Given the description of an element on the screen output the (x, y) to click on. 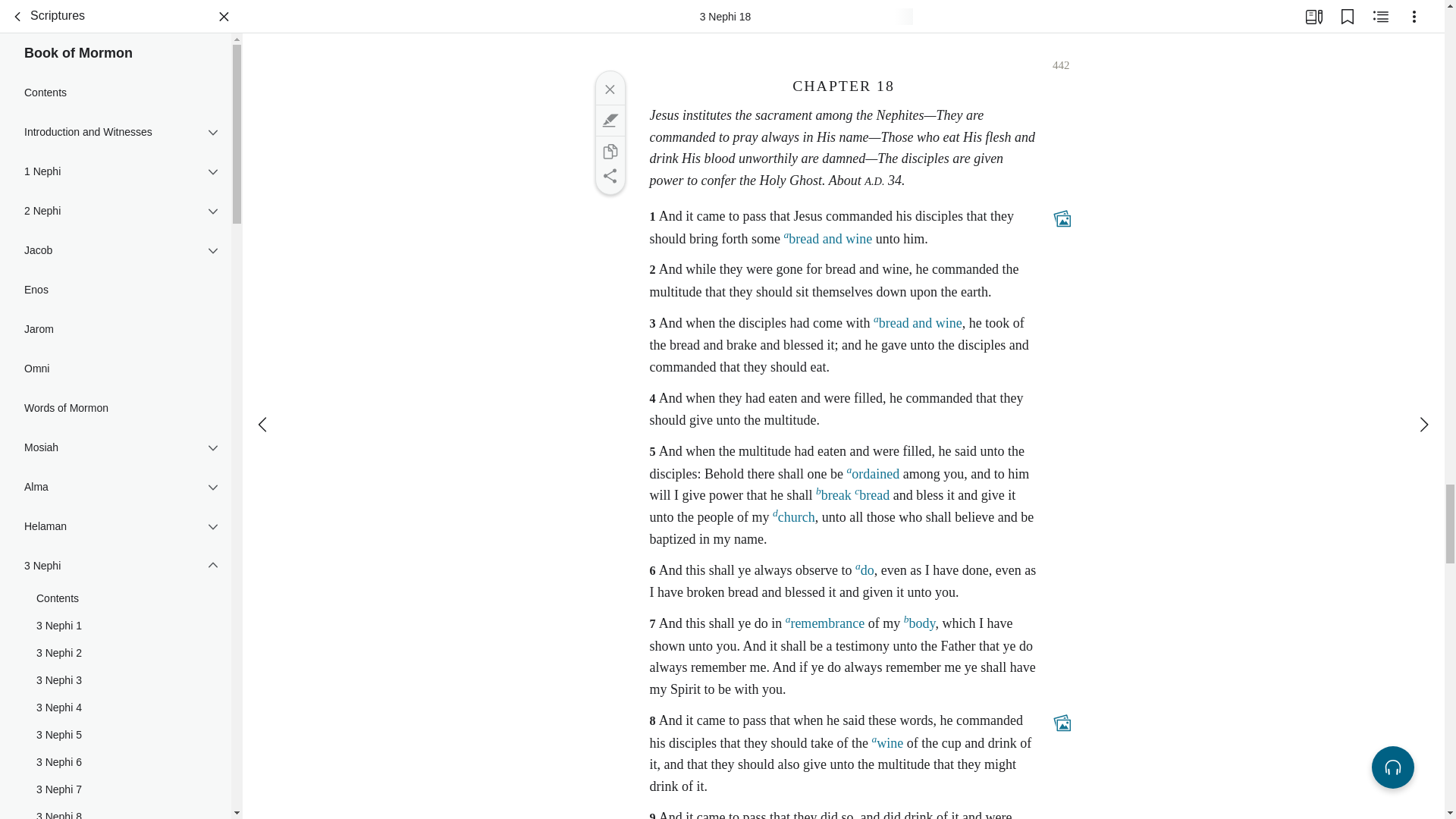
Share (608, 175)
3 Nephi 5 (115, 723)
3 Nephi 6 (115, 750)
Helaman (115, 514)
Mosiah (115, 435)
Table of Contents (17, 8)
3 Nephi 2 (115, 642)
Scriptures (44, 8)
Jacob (115, 238)
Close (608, 88)
